Given the description of an element on the screen output the (x, y) to click on. 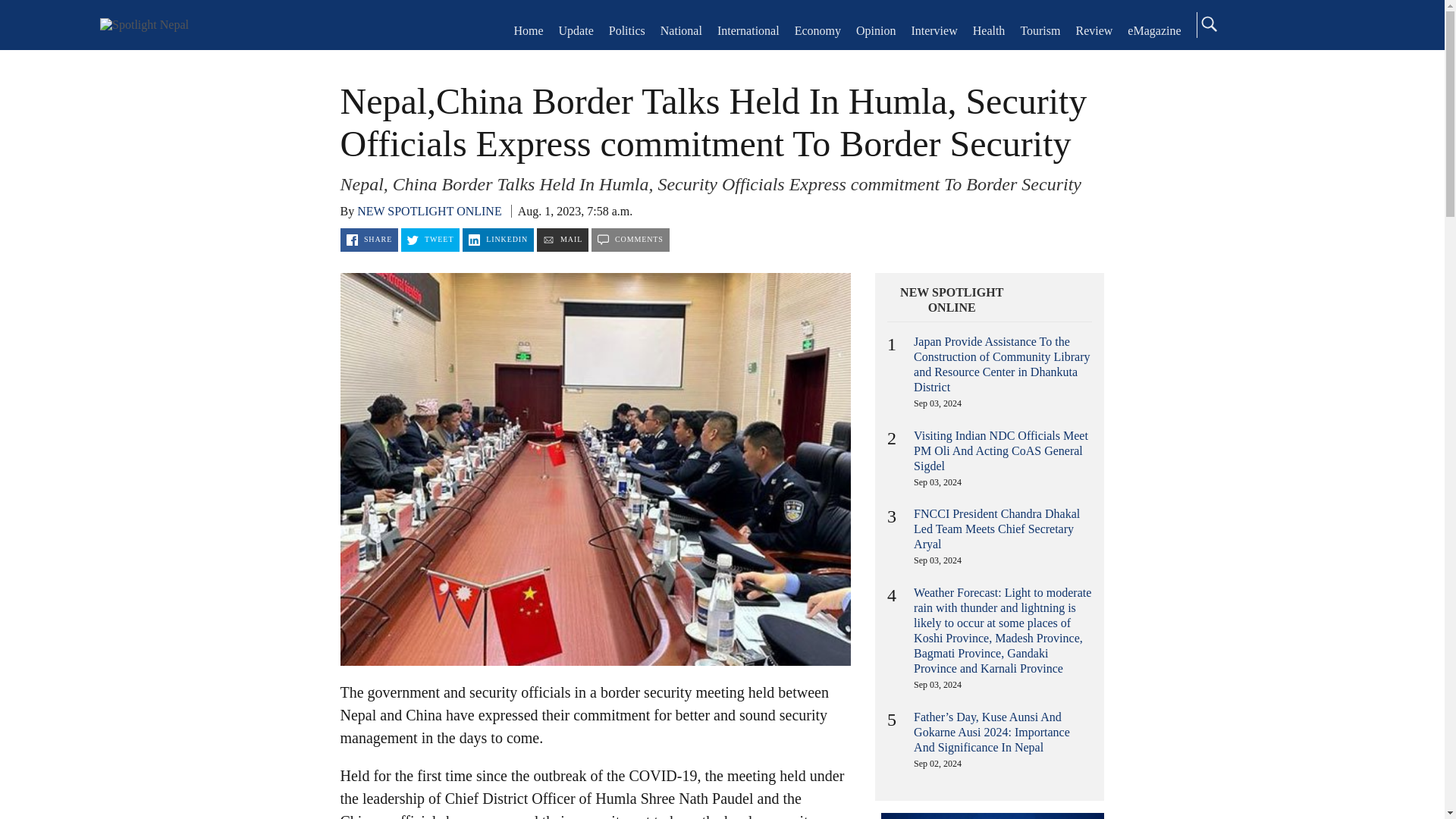
TWEET (430, 239)
Interview (933, 30)
Home (144, 24)
NEW SPOTLIGHT ONLINE (429, 210)
Comments (630, 239)
eMagazine (1153, 30)
SHARE (368, 239)
Search (1208, 24)
MAIL (563, 239)
